Given the description of an element on the screen output the (x, y) to click on. 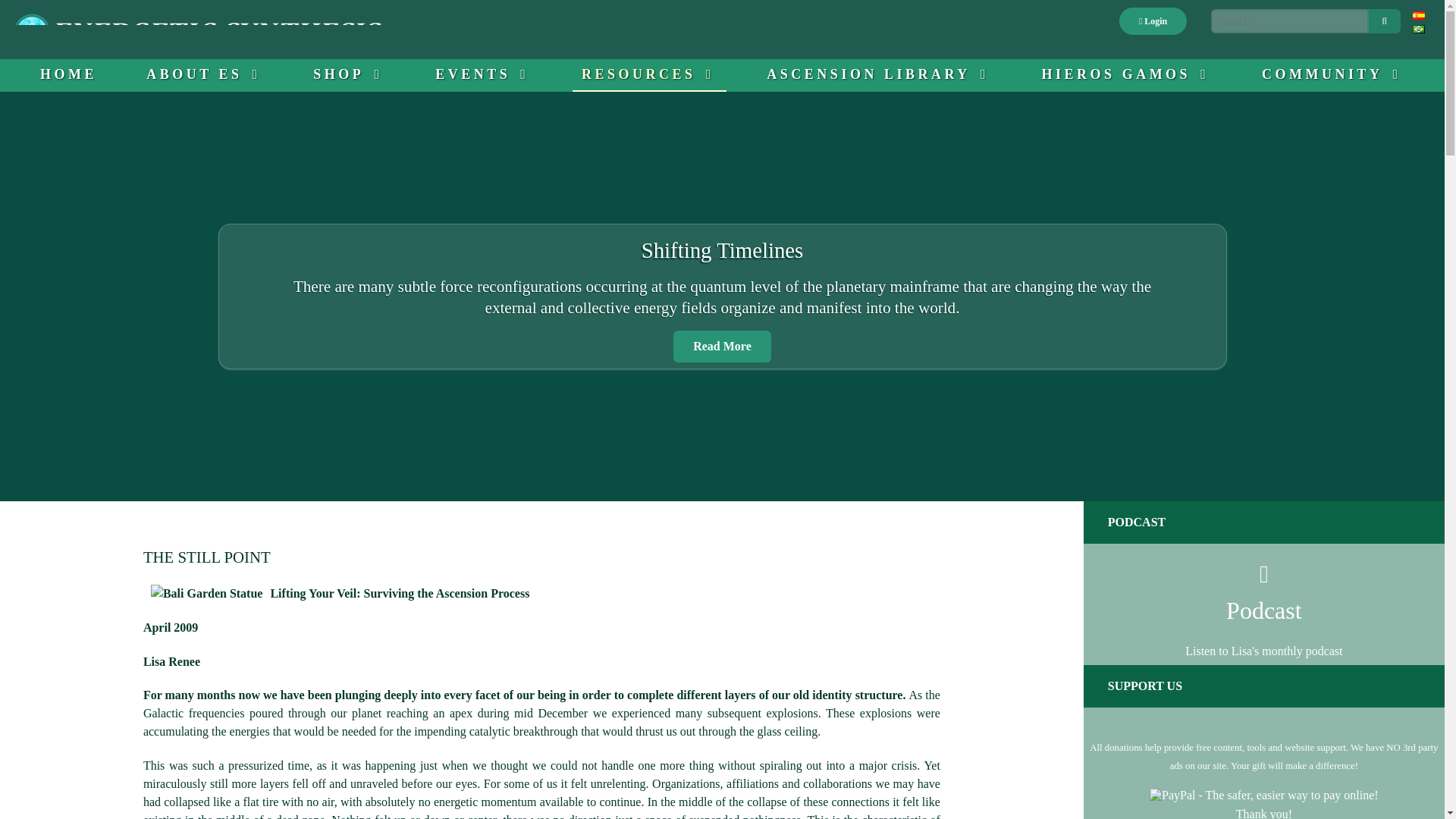
HOME (68, 74)
EVENTS (483, 74)
ABOUT ES (204, 74)
 Login (1152, 21)
Search (1384, 21)
Login (1152, 21)
SHOP (349, 74)
RESOURCES (649, 74)
